Given the description of an element on the screen output the (x, y) to click on. 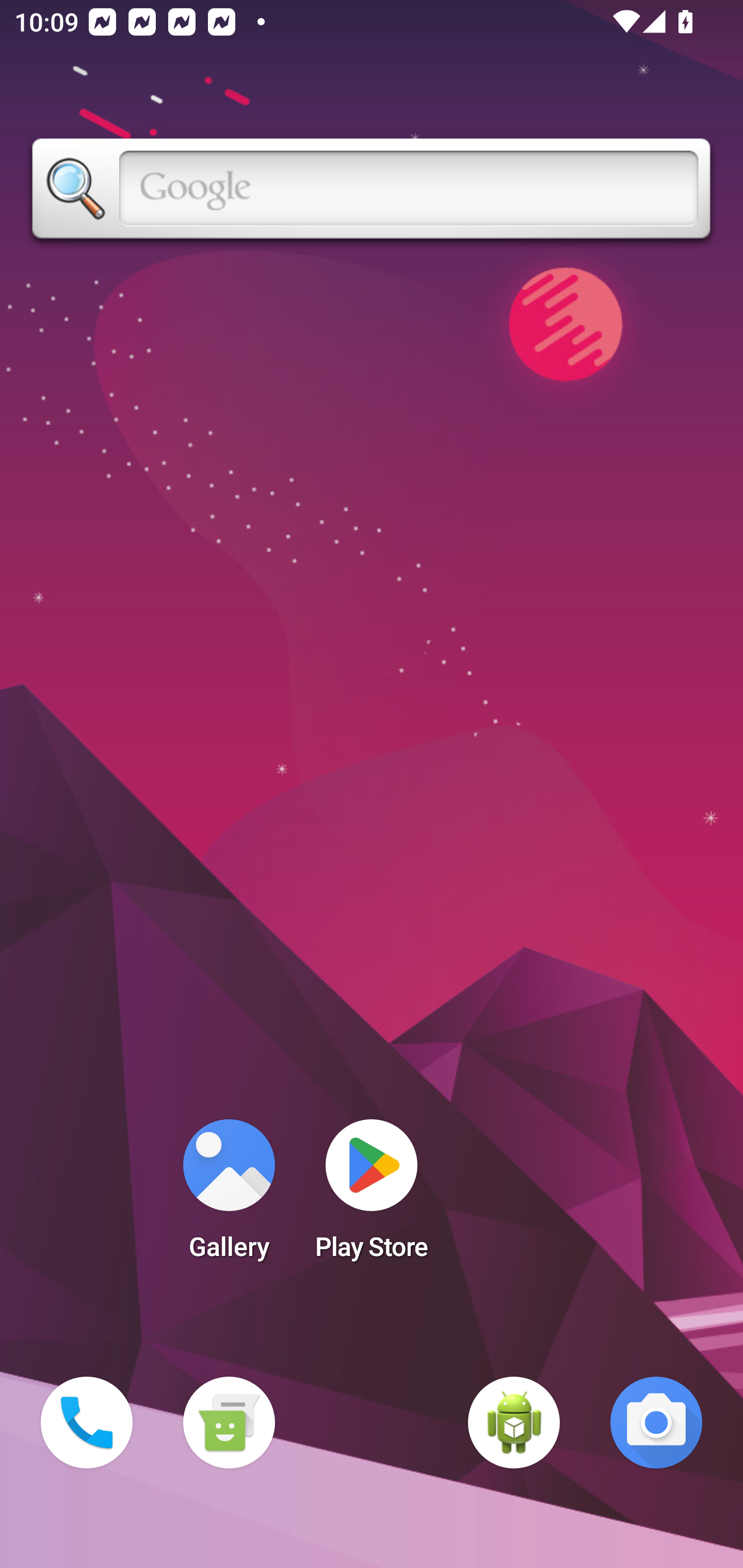
Gallery (228, 1195)
Play Store (371, 1195)
Phone (86, 1422)
Messaging (228, 1422)
WebView Browser Tester (513, 1422)
Camera (656, 1422)
